Given the description of an element on the screen output the (x, y) to click on. 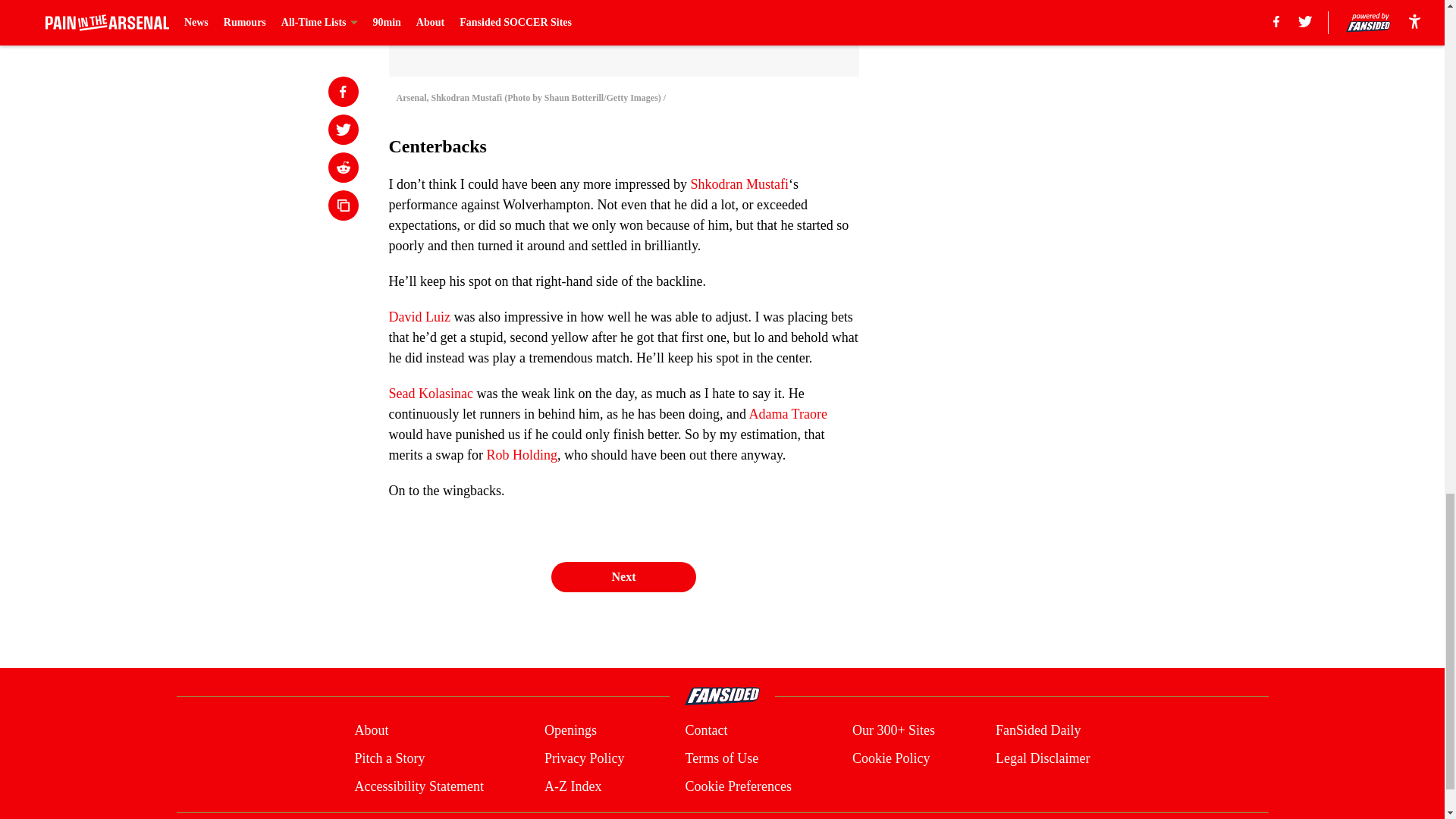
Rob Holding (521, 454)
Legal Disclaimer (1042, 758)
Next (622, 576)
Shkodran Mustafi (739, 183)
Cookie Policy (890, 758)
FanSided Daily (1038, 730)
Adama Traore (787, 413)
About (370, 730)
Sead Kolasinac (429, 393)
Privacy Policy (584, 758)
